Given the description of an element on the screen output the (x, y) to click on. 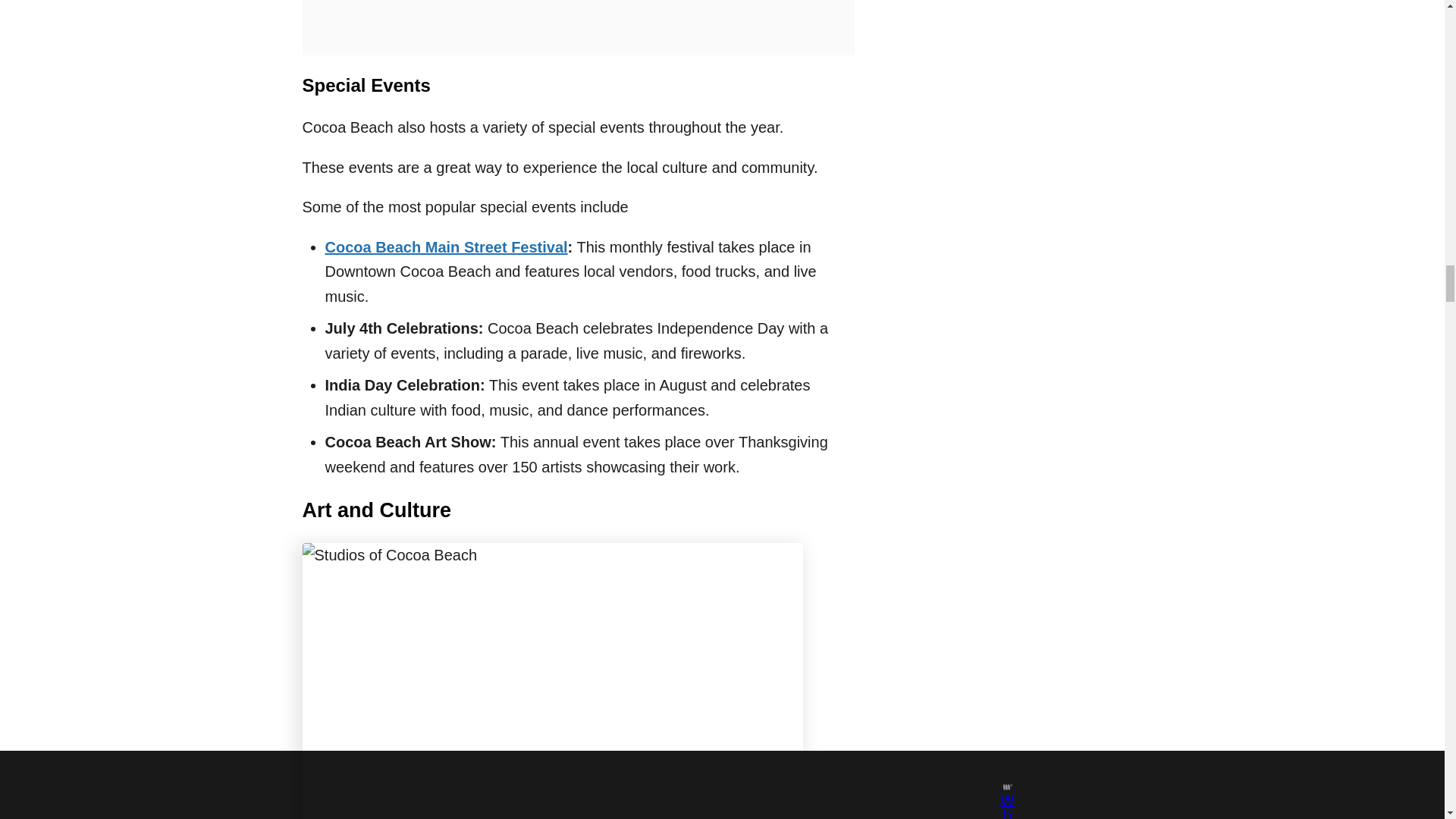
Cocoa Beach Main Street Festival (445, 247)
